Given the description of an element on the screen output the (x, y) to click on. 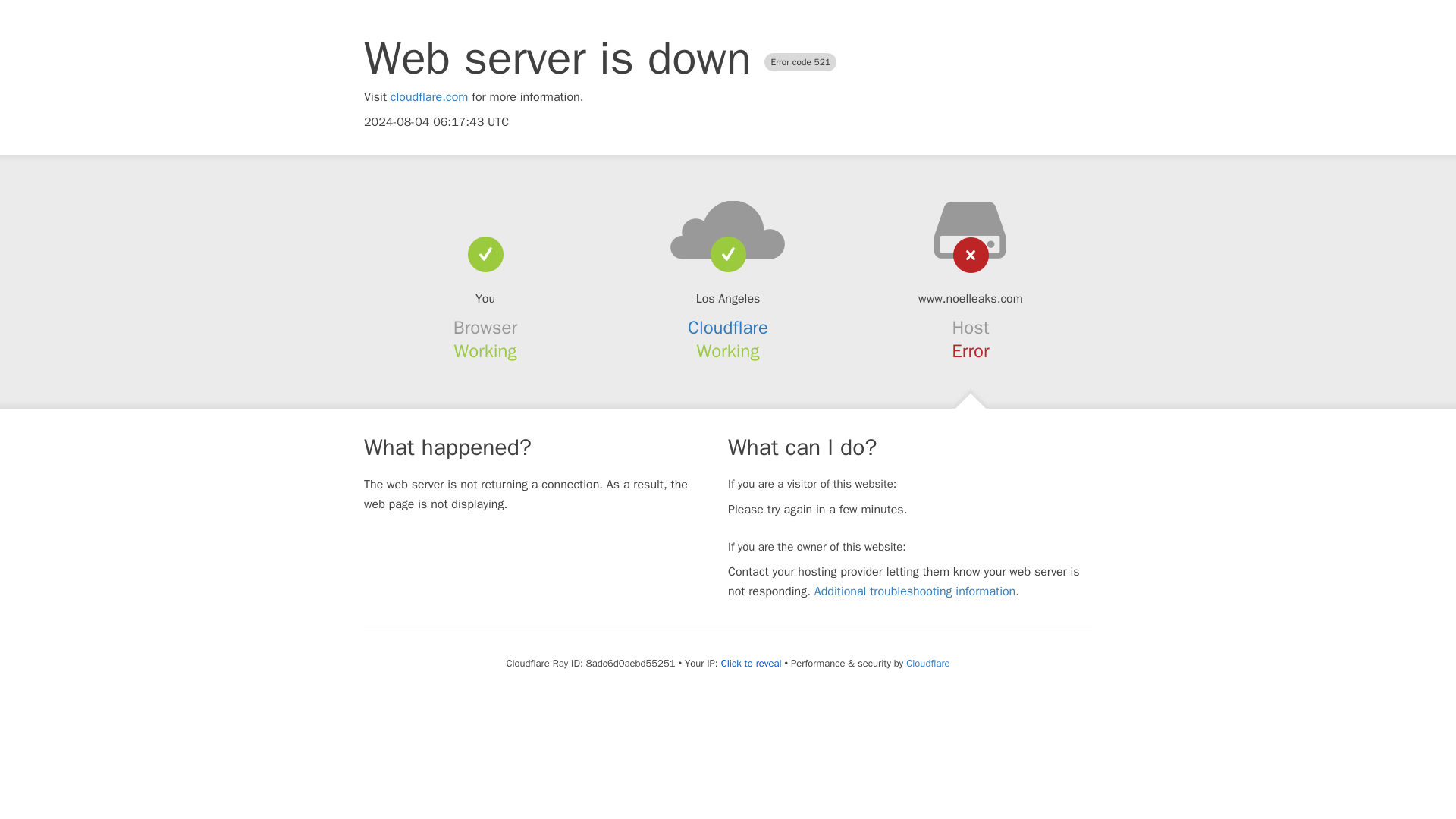
Additional troubleshooting information (913, 590)
Cloudflare (927, 662)
cloudflare.com (429, 96)
Click to reveal (750, 663)
Cloudflare (727, 327)
